Given the description of an element on the screen output the (x, y) to click on. 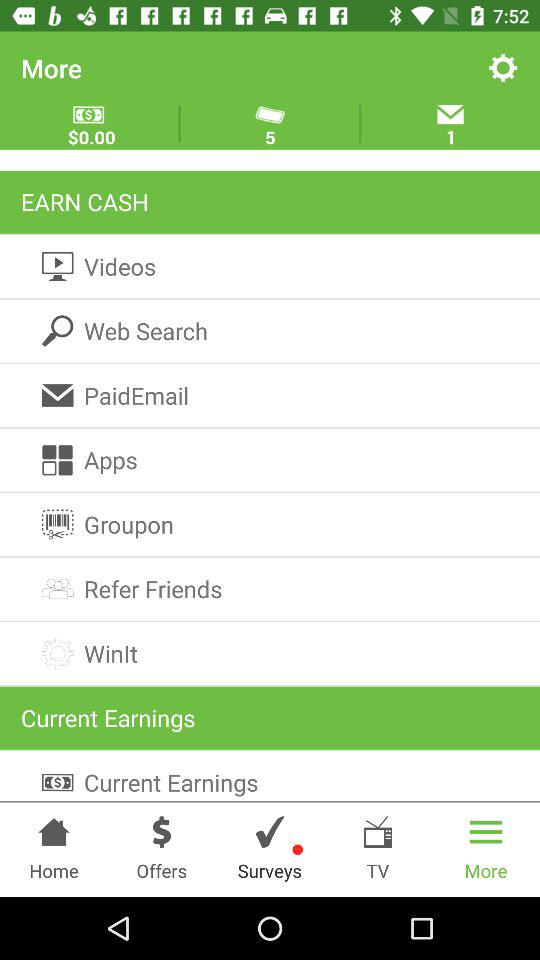
jump to apps icon (270, 459)
